Given the description of an element on the screen output the (x, y) to click on. 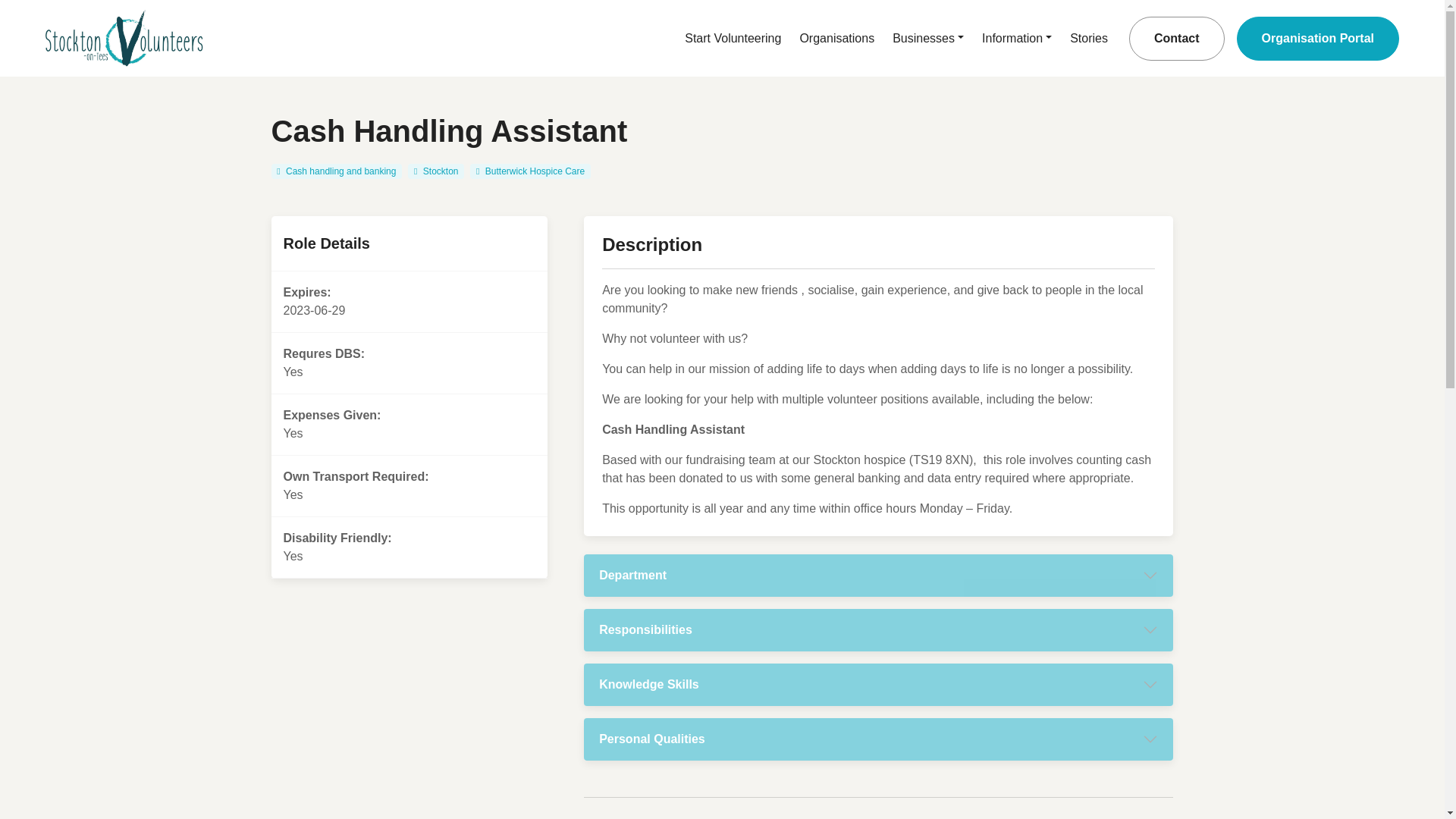
Personal Qualities (878, 739)
Stories (1088, 37)
Responsibilities (878, 630)
Start Volunteering (732, 37)
Department (878, 575)
Businesses (927, 37)
Businesses (927, 37)
Contact (1176, 38)
Organisations (836, 37)
Start Volunteering (732, 37)
